Given the description of an element on the screen output the (x, y) to click on. 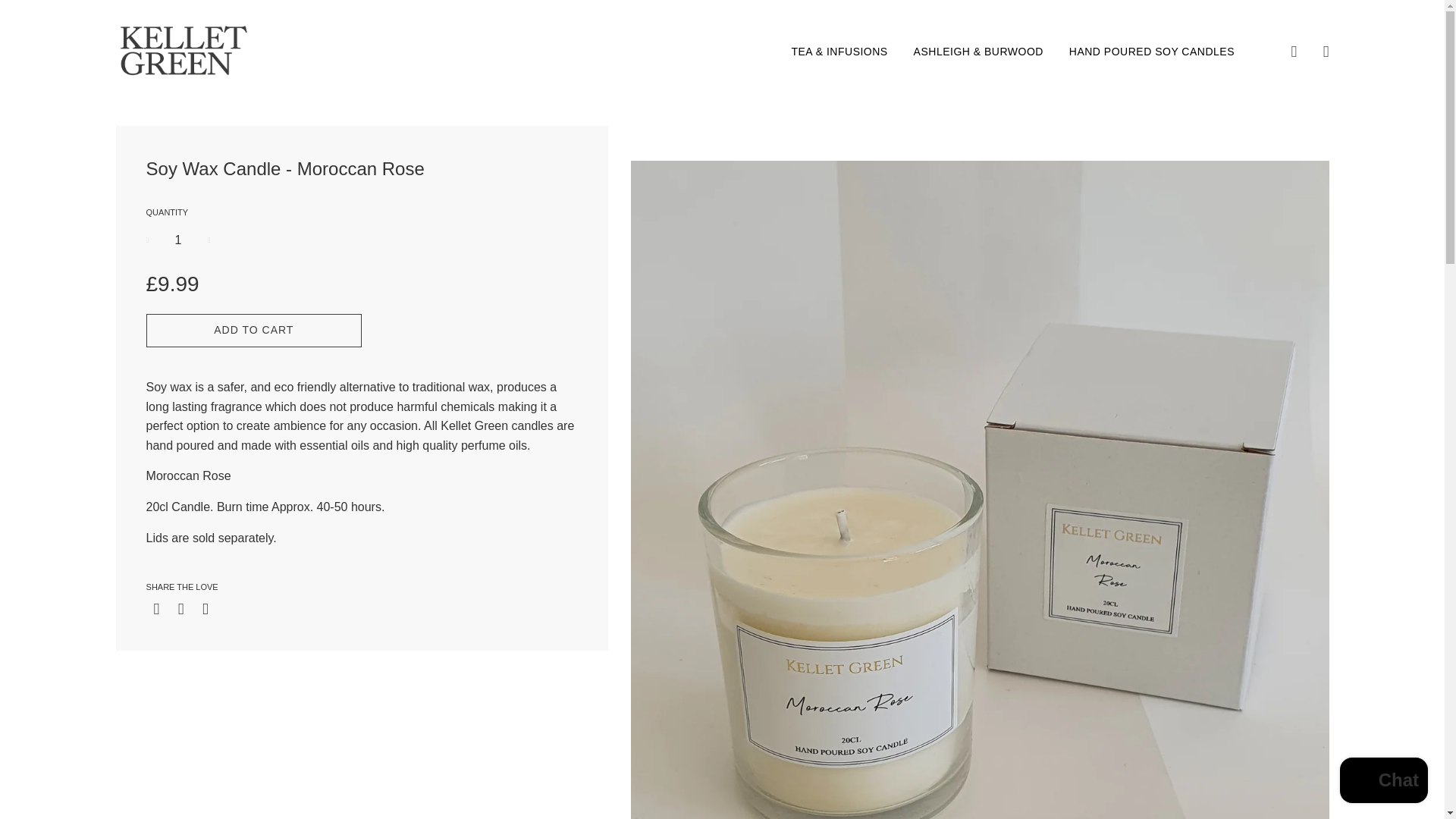
ADD TO CART (254, 330)
Shopify online store chat (1383, 781)
HAND POURED SOY CANDLES (1146, 51)
1 (179, 239)
